Given the description of an element on the screen output the (x, y) to click on. 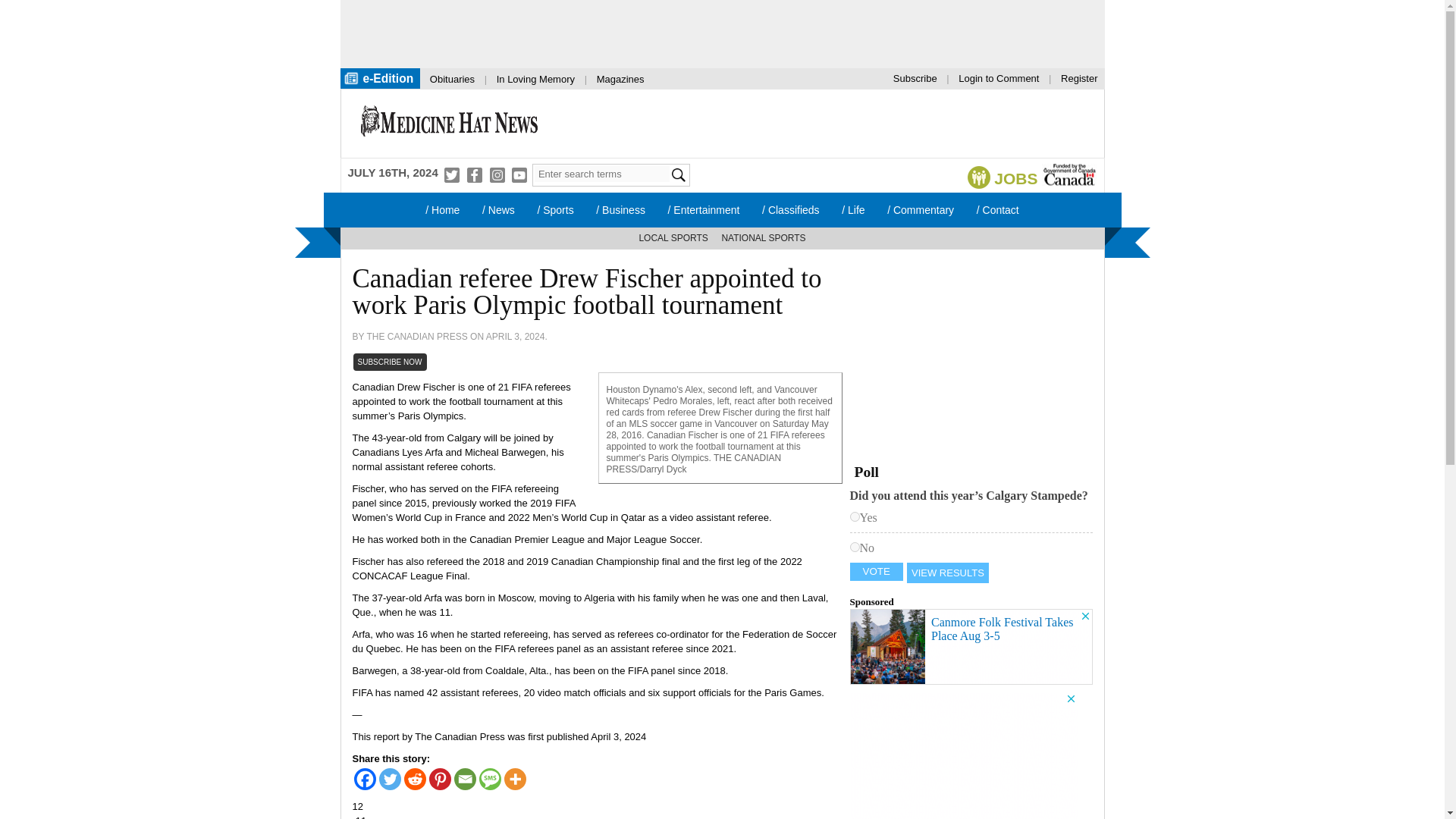
Life (853, 209)
LOCAL SPORTS (673, 238)
Home (449, 123)
e-Edition (379, 77)
Subscribe (914, 77)
NATIONAL SPORTS (763, 238)
Classifieds (790, 209)
Facebook (364, 779)
Contact (997, 209)
Login to Comment (998, 77)
Register (1078, 77)
   Vote    (875, 571)
Home (441, 209)
Pinterest (440, 779)
